Given the description of an element on the screen output the (x, y) to click on. 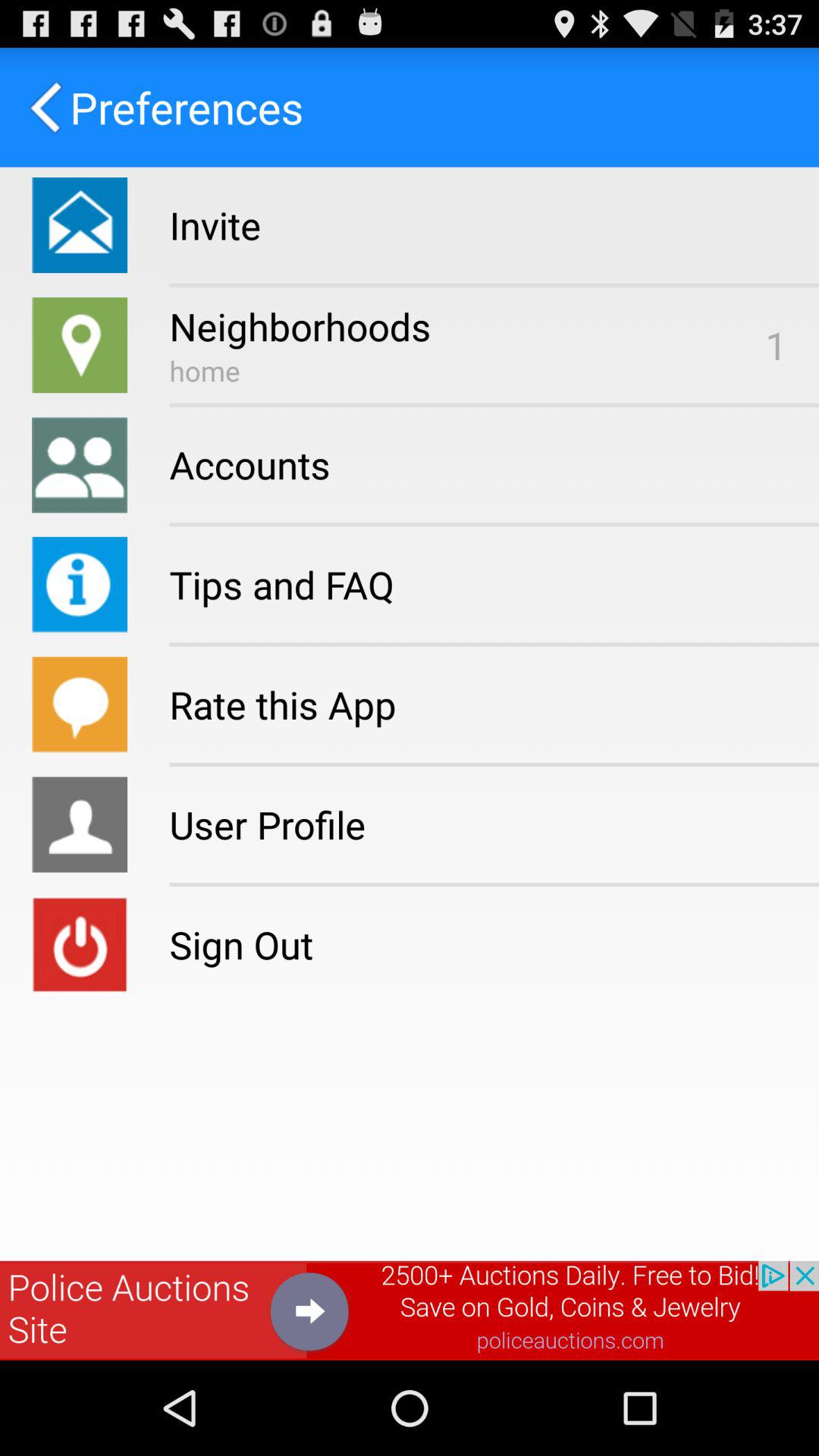
web advertisement (409, 1310)
